Given the description of an element on the screen output the (x, y) to click on. 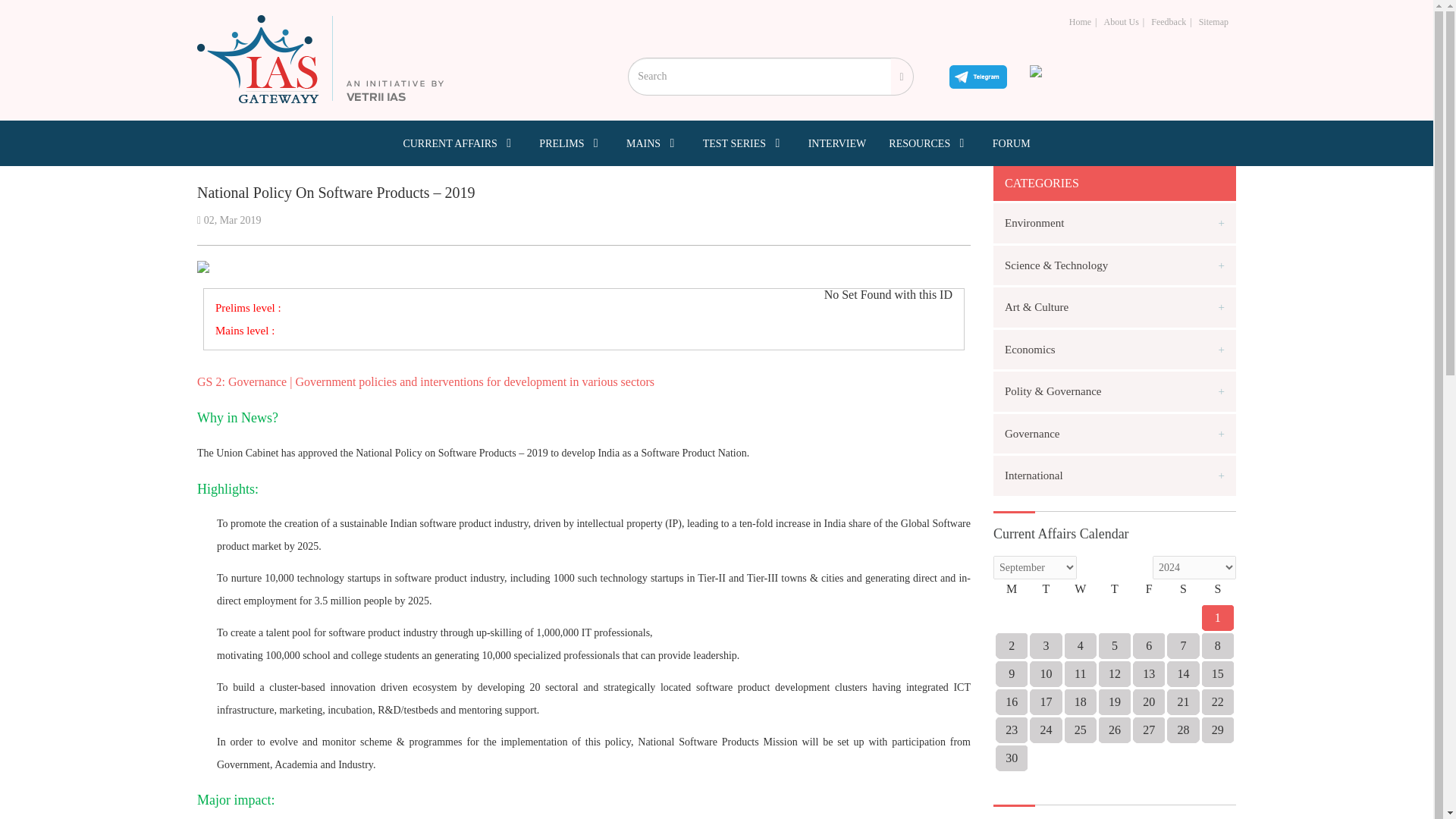
Monday (1011, 592)
International (1114, 475)
Wednesday (1079, 592)
Governance (1114, 434)
IAS Gatewayy (320, 59)
Sitemap (1213, 21)
Environment (1114, 223)
Thursday (1114, 592)
Tuesday (1045, 592)
About Us (1120, 21)
